Given the description of an element on the screen output the (x, y) to click on. 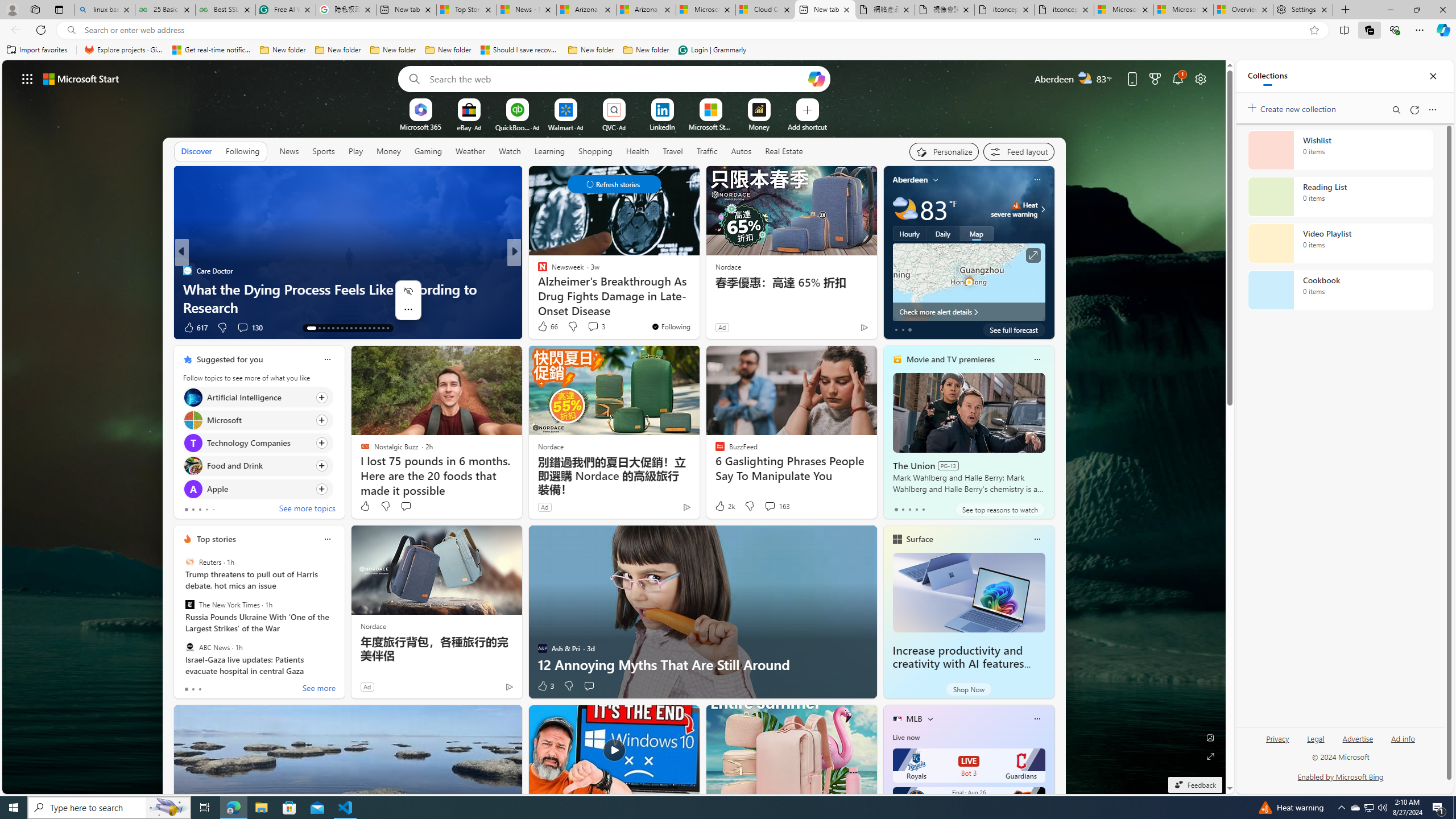
80 Like (543, 327)
You're following Newsweek (670, 326)
328 Like (545, 327)
See top reasons to watch (999, 509)
tab-4 (923, 509)
View comments 137 Comment (595, 327)
Video Playlist collection, 0 items (1339, 243)
Shopping (595, 151)
9 replacements for Windows features that Microsoft abandoned (697, 298)
